Given the description of an element on the screen output the (x, y) to click on. 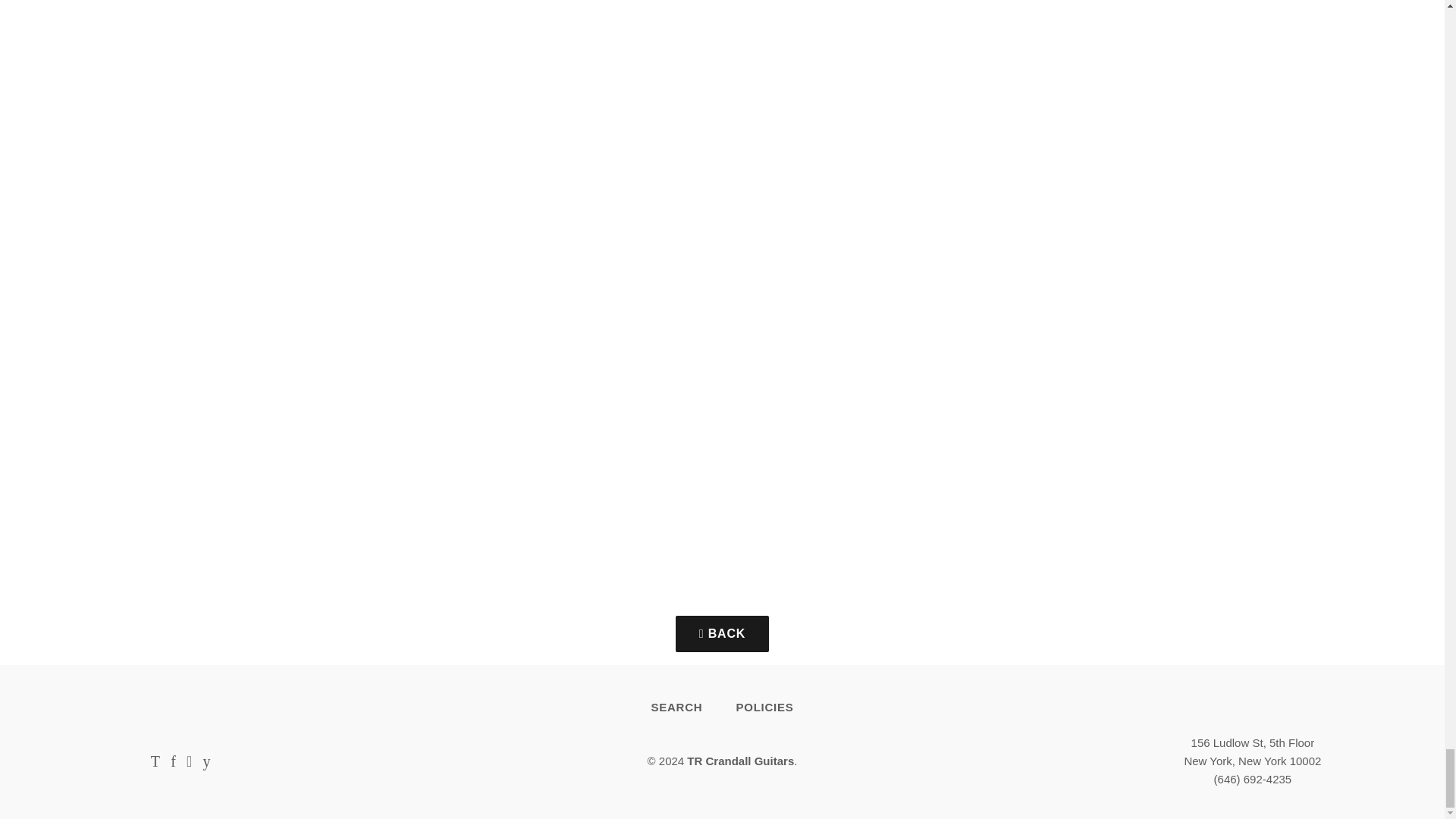
BACK (721, 633)
SEARCH (675, 707)
